Given the description of an element on the screen output the (x, y) to click on. 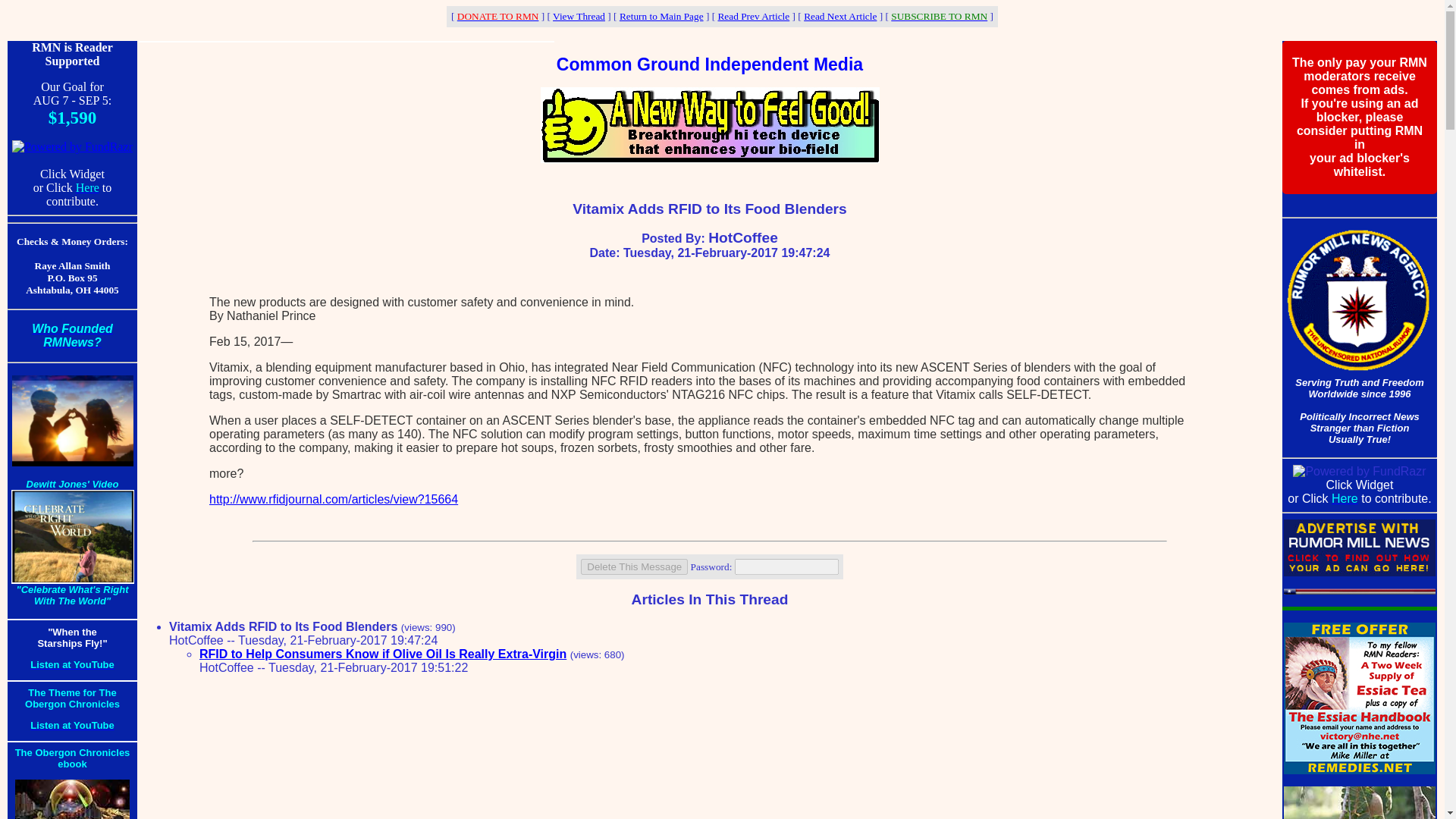
Return to Main Page (661, 16)
Read Next Article (839, 16)
SUBSCRIBE TO RMN (939, 16)
Here (87, 187)
Delete This Message (633, 566)
Read Prev Article (753, 16)
Listen at YouTube (72, 664)
Who Founded RMNews? (72, 335)
View Thread (579, 16)
DONATE TO RMN (497, 16)
